Given the description of an element on the screen output the (x, y) to click on. 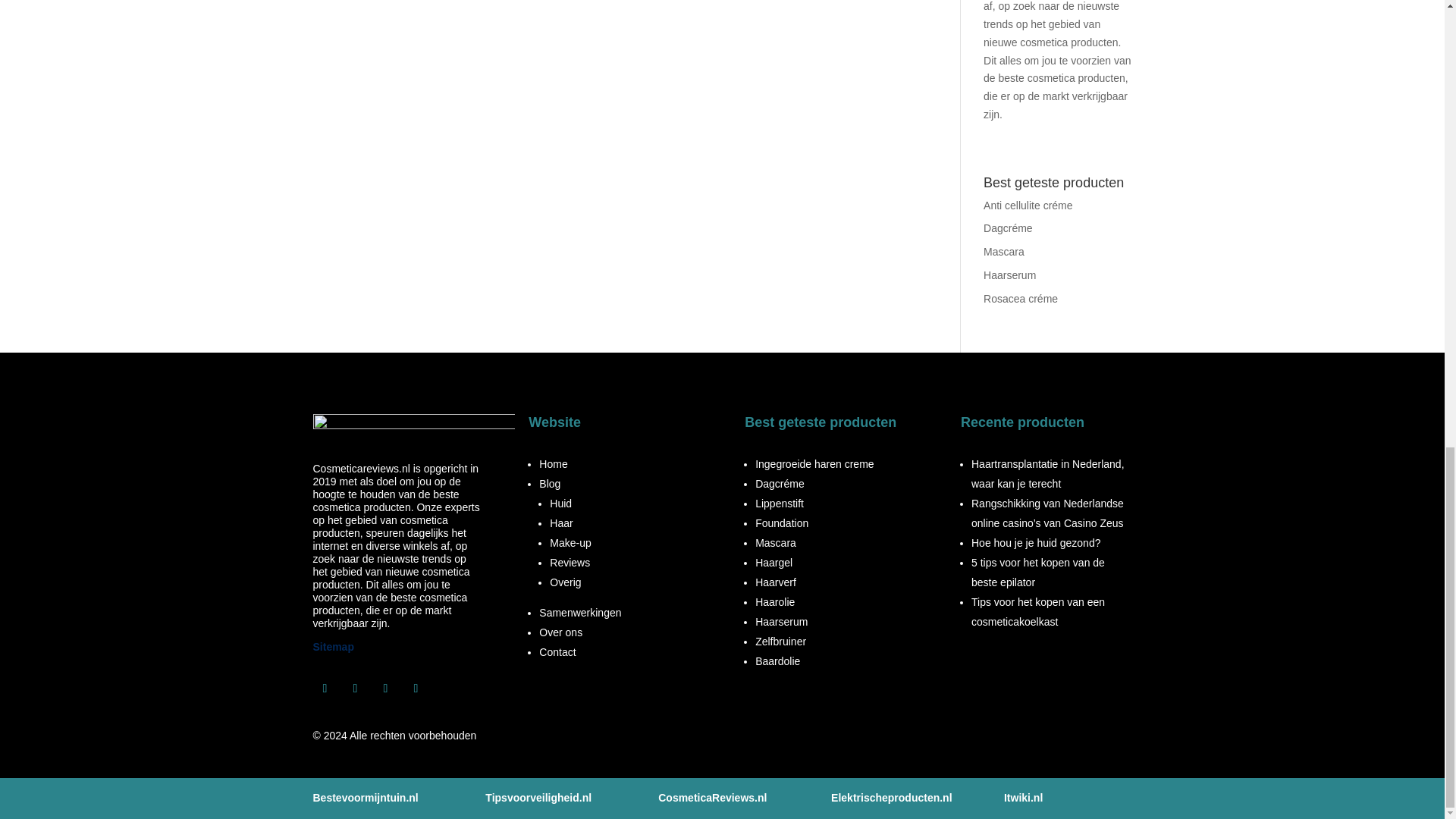
Mascara (1004, 251)
Volg op Instagram (354, 688)
Volg op Youtube (415, 688)
Haarserum (1009, 275)
Volg op X (384, 688)
Volg op Facebook (324, 688)
Sitemap (333, 646)
